Given the description of an element on the screen output the (x, y) to click on. 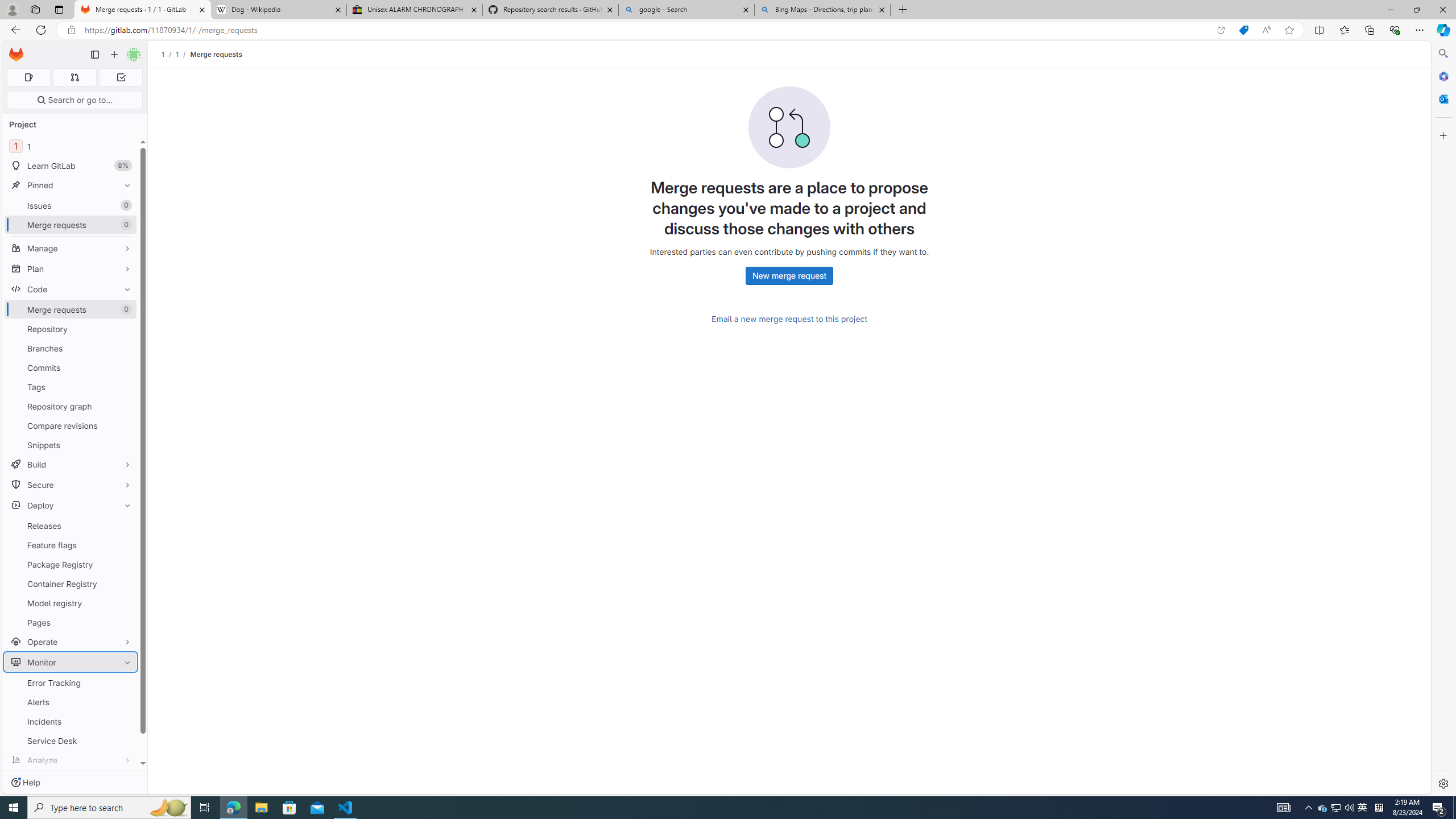
Pin Container Registry (124, 583)
Pin Error Tracking (124, 682)
Service Desk (70, 740)
MonitorError TrackingAlertsIncidentsService Desk (70, 701)
Monitor (70, 661)
Merge requests0 (70, 309)
Service Desk (70, 740)
Pages (70, 622)
1/ (183, 53)
Primary navigation sidebar (94, 54)
